Given the description of an element on the screen output the (x, y) to click on. 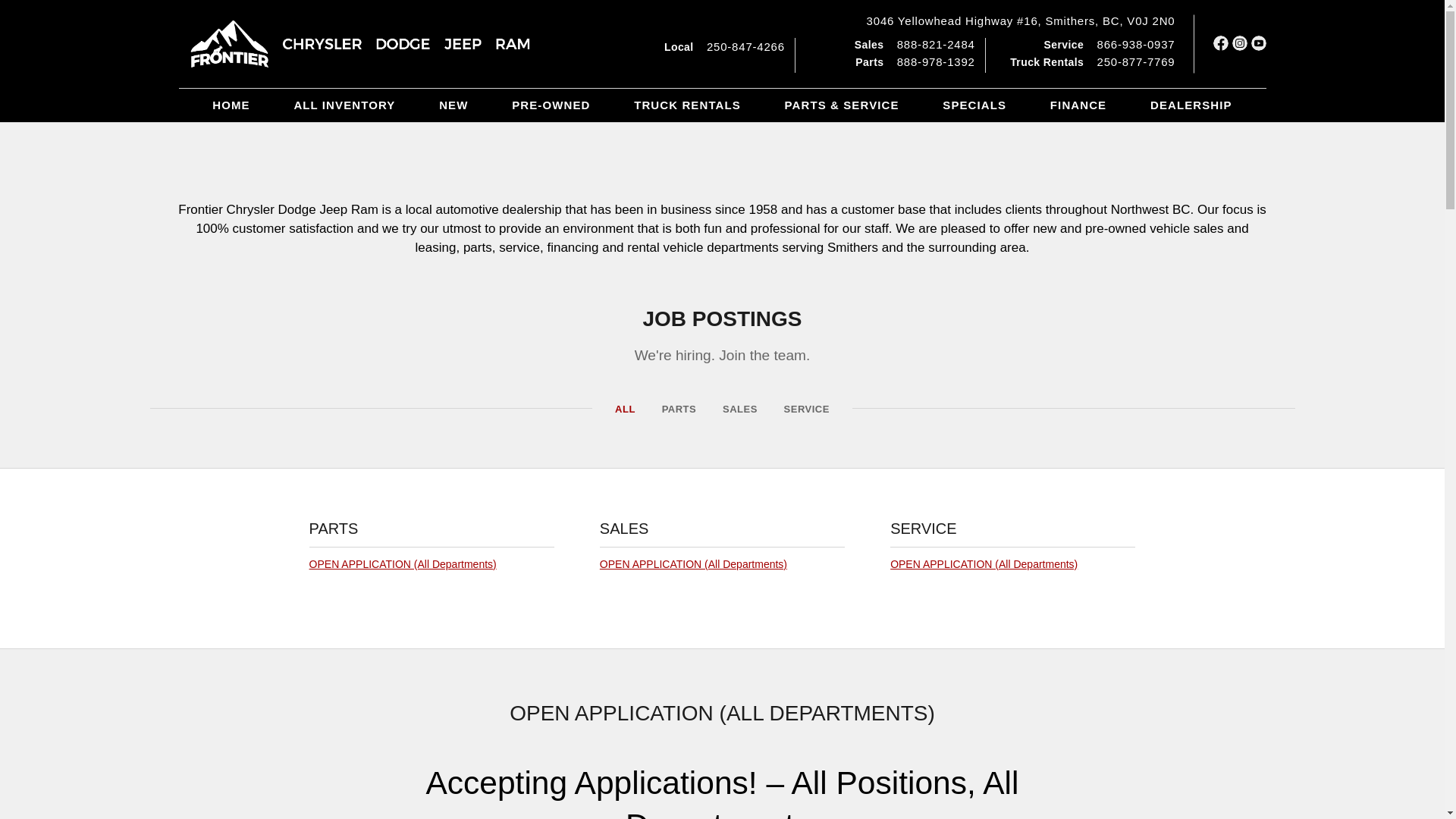
Truck Rentals 250-877-7769 (1092, 61)
Parts 888-978-1392 (915, 61)
NEW (453, 105)
Local 250-847-4266 (723, 47)
ALL INVENTORY (343, 105)
TRUCK RENTALS (687, 105)
Service 866-938-0937 (1108, 44)
Sales 888-821-2484 (914, 44)
PRE-OWNED (550, 105)
HOME (230, 105)
